Given the description of an element on the screen output the (x, y) to click on. 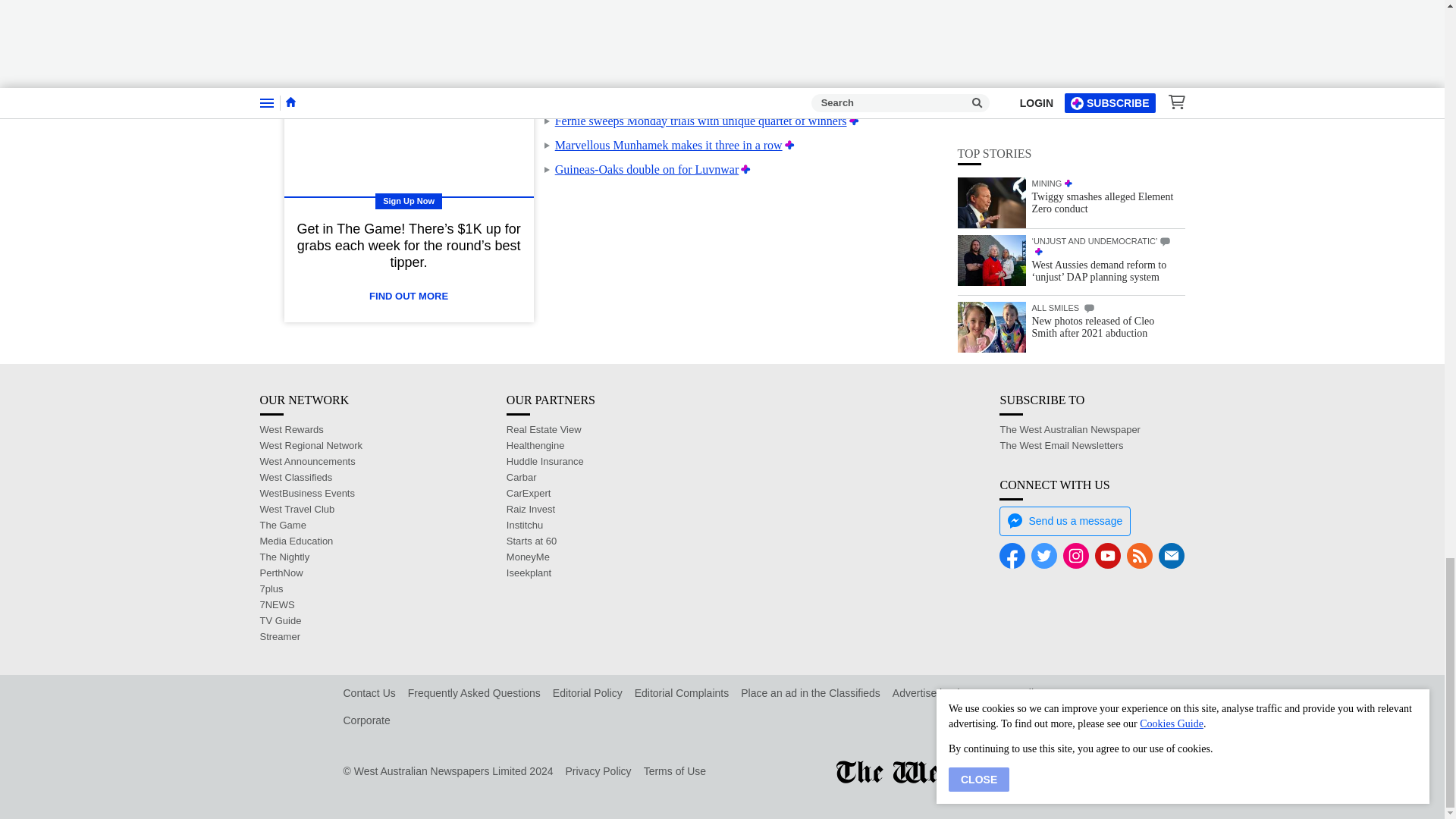
Premium (704, 47)
Premium (844, 72)
Premium (764, 96)
Premium (745, 169)
Premium (853, 120)
Premium (789, 144)
